Given the description of an element on the screen output the (x, y) to click on. 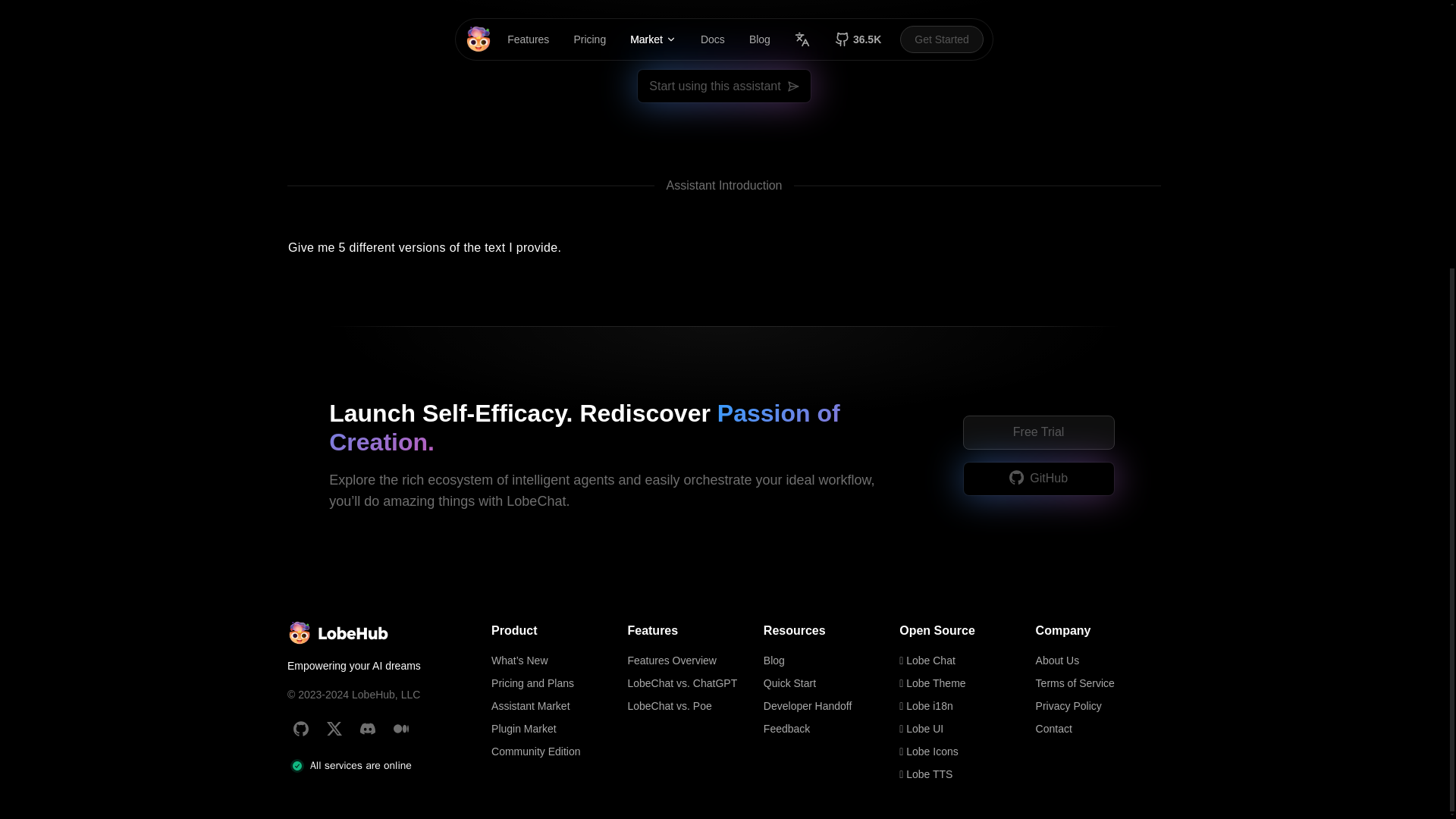
Plugin Market (553, 728)
Community Edition (553, 751)
Pricing and Plans (553, 682)
Features Overview (689, 660)
LobeChat vs. ChatGPT (689, 682)
Assistant Market (553, 705)
Free Trial (1038, 432)
Developer Handoff (825, 705)
Blog (825, 660)
GitHub (1016, 477)
